Given the description of an element on the screen output the (x, y) to click on. 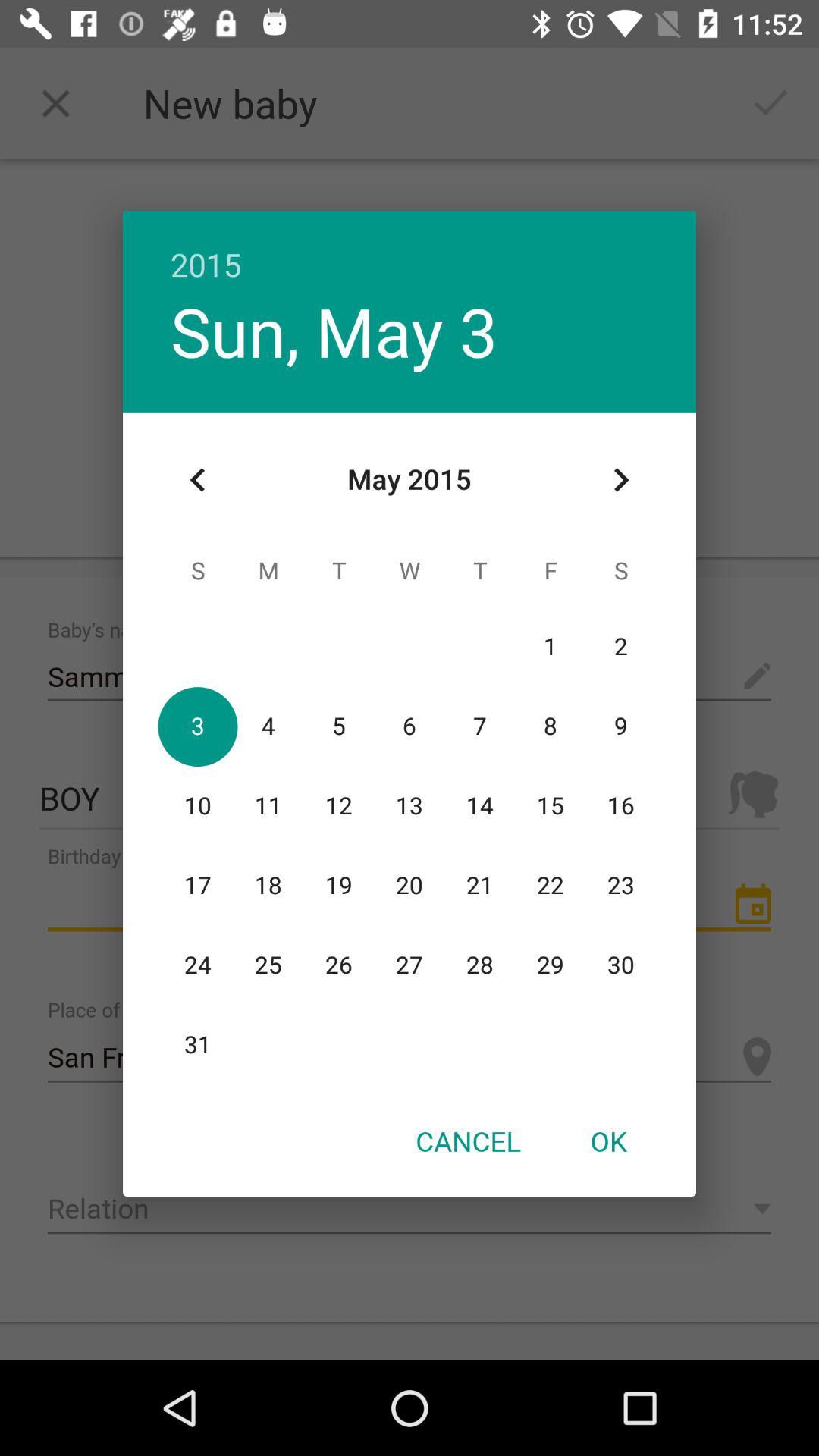
launch the item to the right of cancel icon (608, 1140)
